Given the description of an element on the screen output the (x, y) to click on. 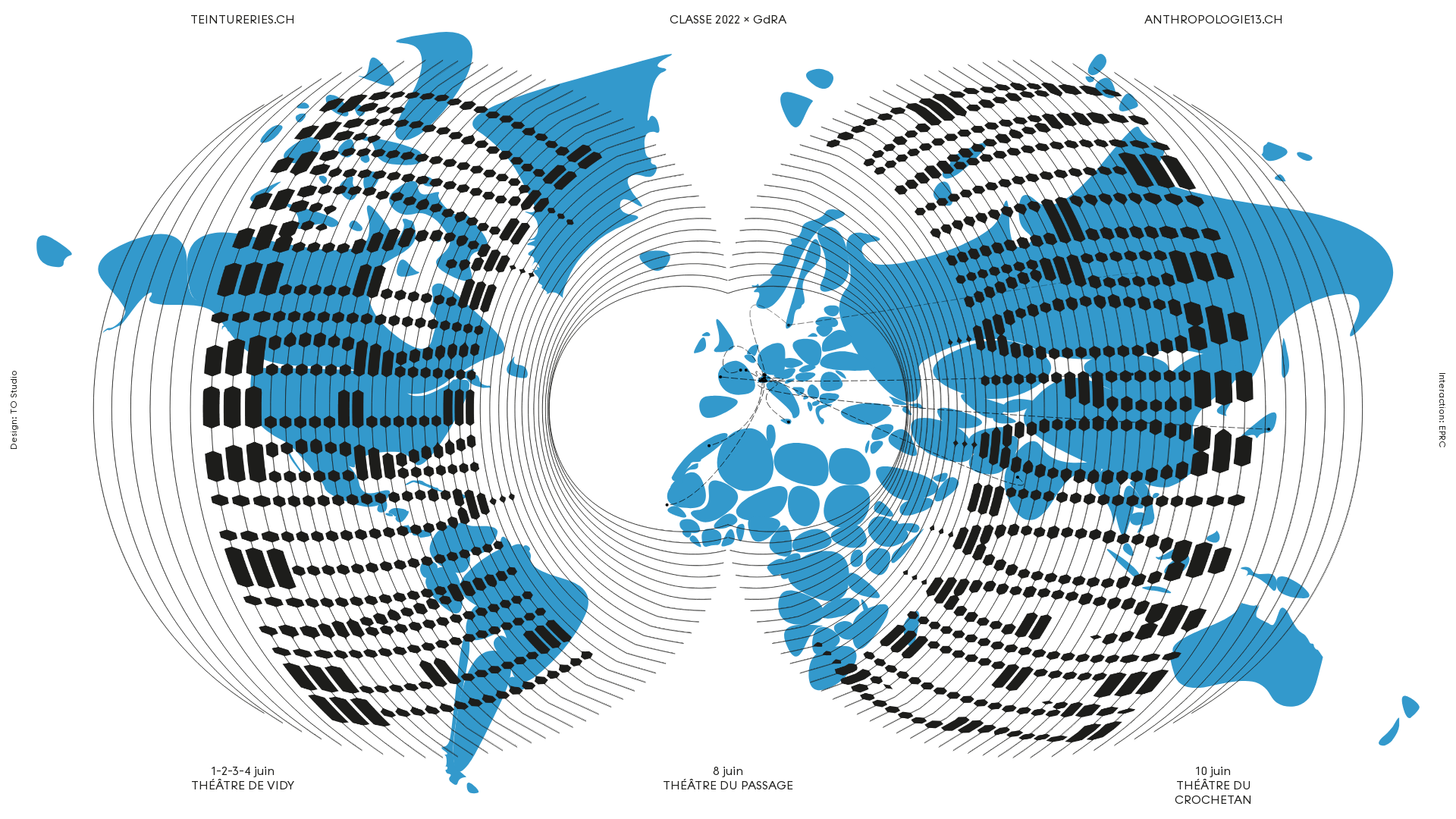
CLASSE 2022 Element type: text (704, 19)
GdRA Element type: text (769, 19)
ANTHROPOLOGIE13.CH Element type: text (1213, 19)
TEINTURERIES.CH Element type: text (242, 19)
